Given the description of an element on the screen output the (x, y) to click on. 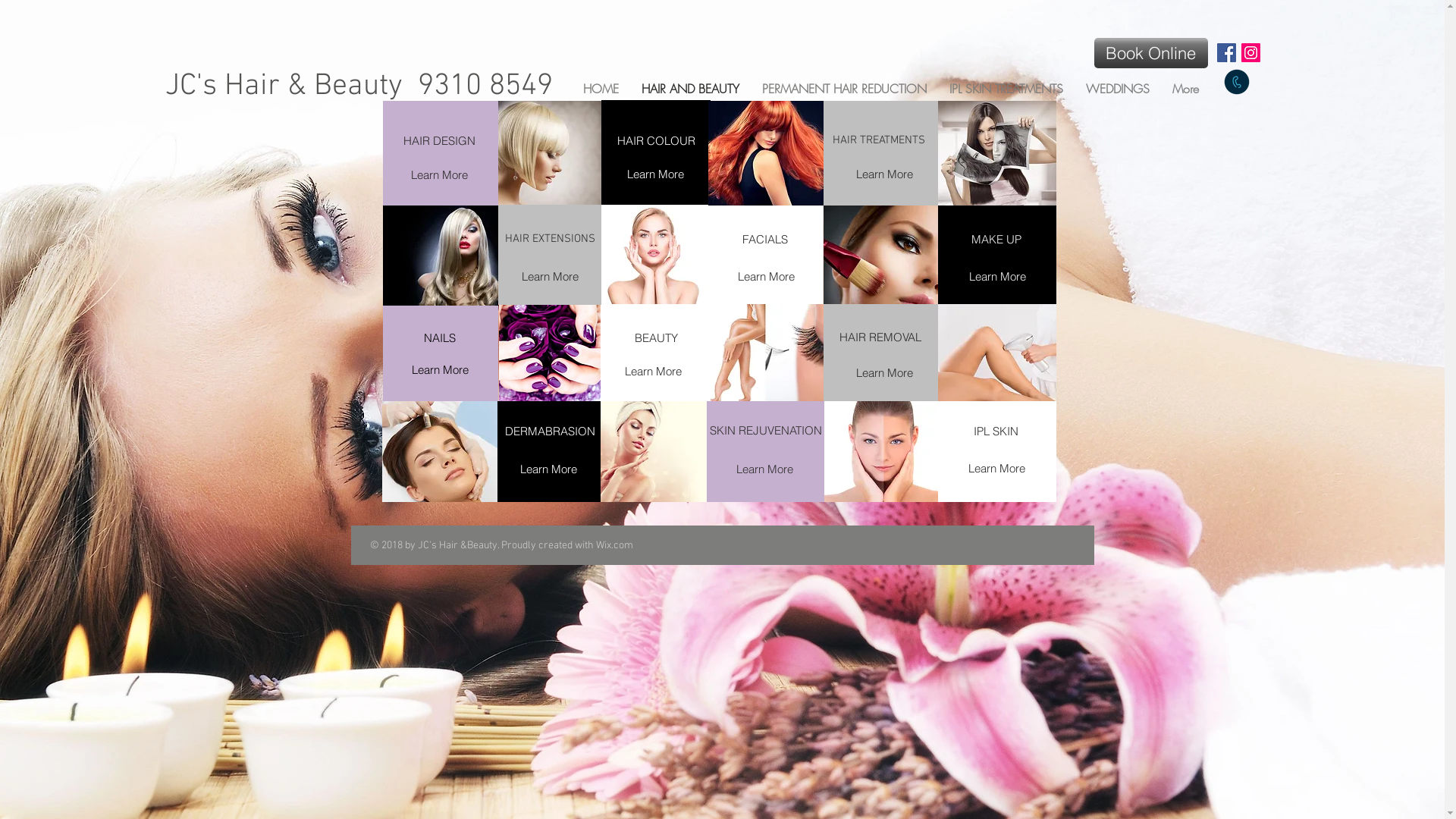
Learn More Element type: text (884, 173)
Learn More Element type: text (548, 468)
IPL SKIN TREATMENTS Element type: text (1005, 87)
Learn More Element type: text (438, 174)
SKIN REJUVENATION Element type: text (766, 429)
Wix.com Element type: text (614, 545)
IPL SKIN Element type: text (995, 430)
Learn More Element type: text (884, 371)
JC's Hair & Beauty  9310 8549 Element type: text (358, 86)
PERMANENT HAIR REDUCTION Element type: text (844, 87)
Learn More Element type: text (652, 370)
HAIR AND BEAUTY Element type: text (689, 87)
HAIR REMOVAL Element type: text (880, 337)
Learn More Element type: text (766, 275)
WEDDINGS Element type: text (1116, 87)
Learn More Element type: text (439, 368)
Learn More Element type: text (997, 275)
DERMABRASION Element type: text (550, 430)
Learn More Element type: text (654, 173)
Learn More Element type: text (996, 467)
Book Online Element type: text (1150, 52)
HOME Element type: text (600, 87)
Learn More Element type: text (764, 468)
Learn More Element type: text (550, 276)
